Given the description of an element on the screen output the (x, y) to click on. 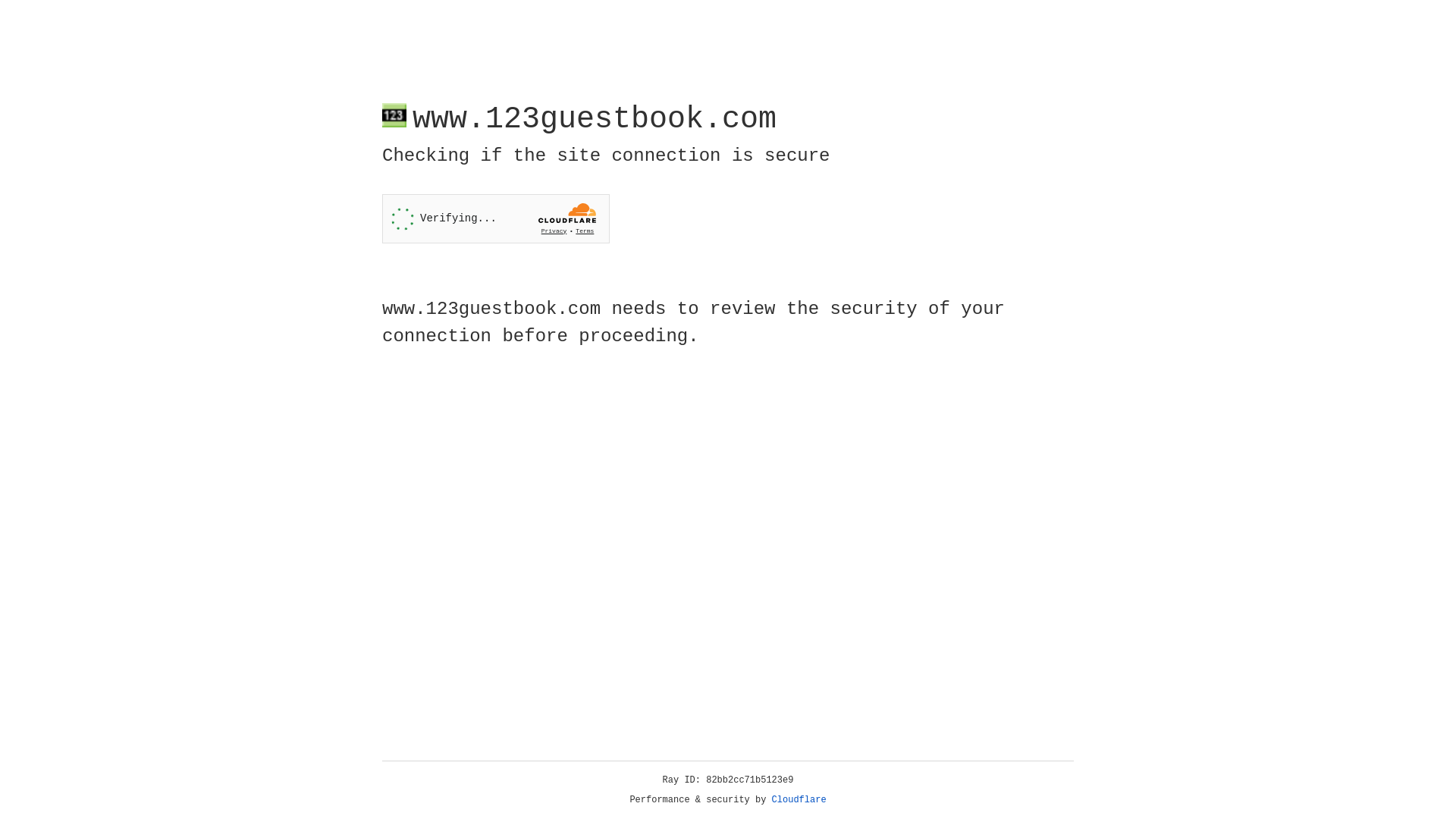
Widget containing a Cloudflare security challenge Element type: hover (495, 218)
Cloudflare Element type: text (798, 799)
